Given the description of an element on the screen output the (x, y) to click on. 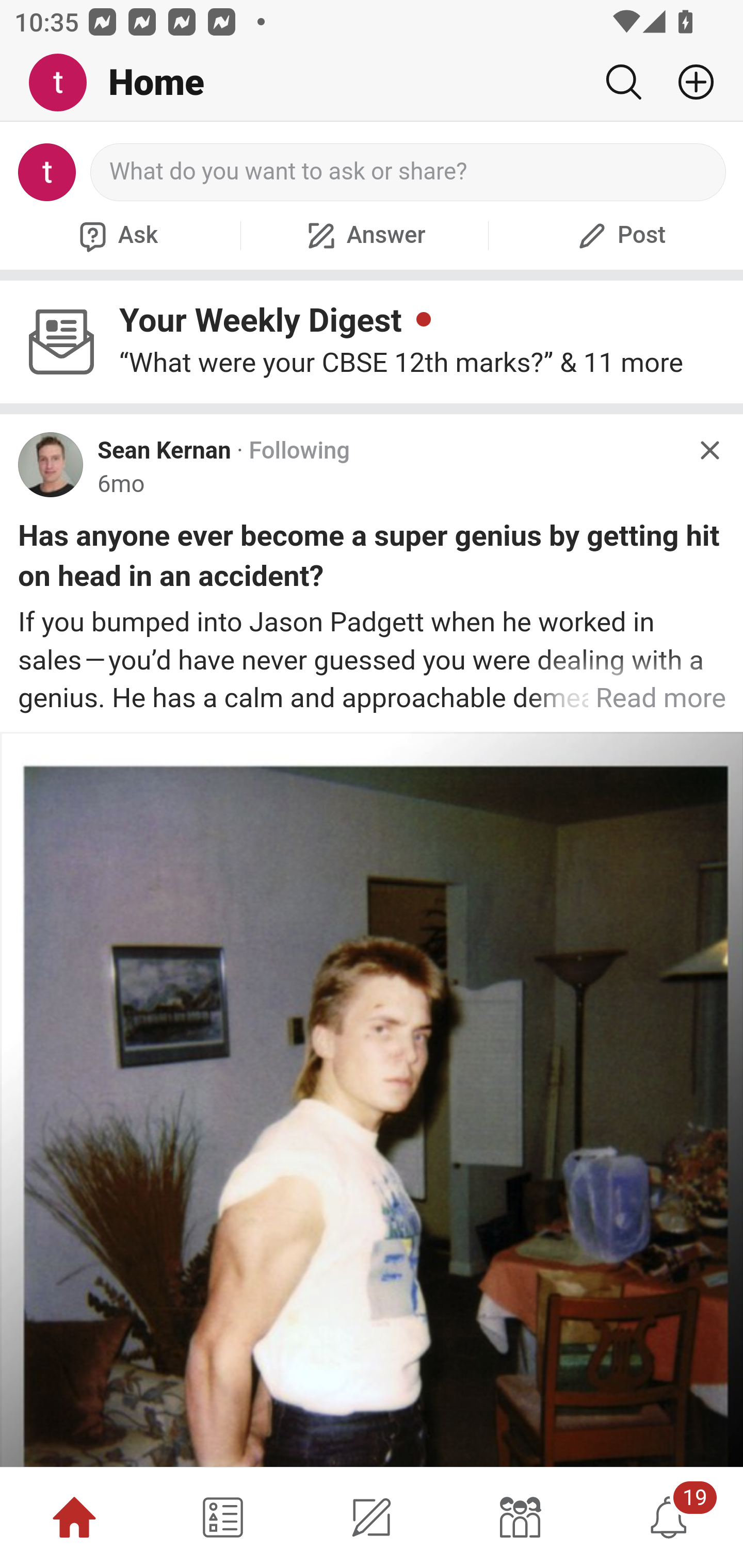
Me Home Search Add (371, 82)
Me (64, 83)
Search (623, 82)
Add (688, 82)
19 (668, 1517)
